Given the description of an element on the screen output the (x, y) to click on. 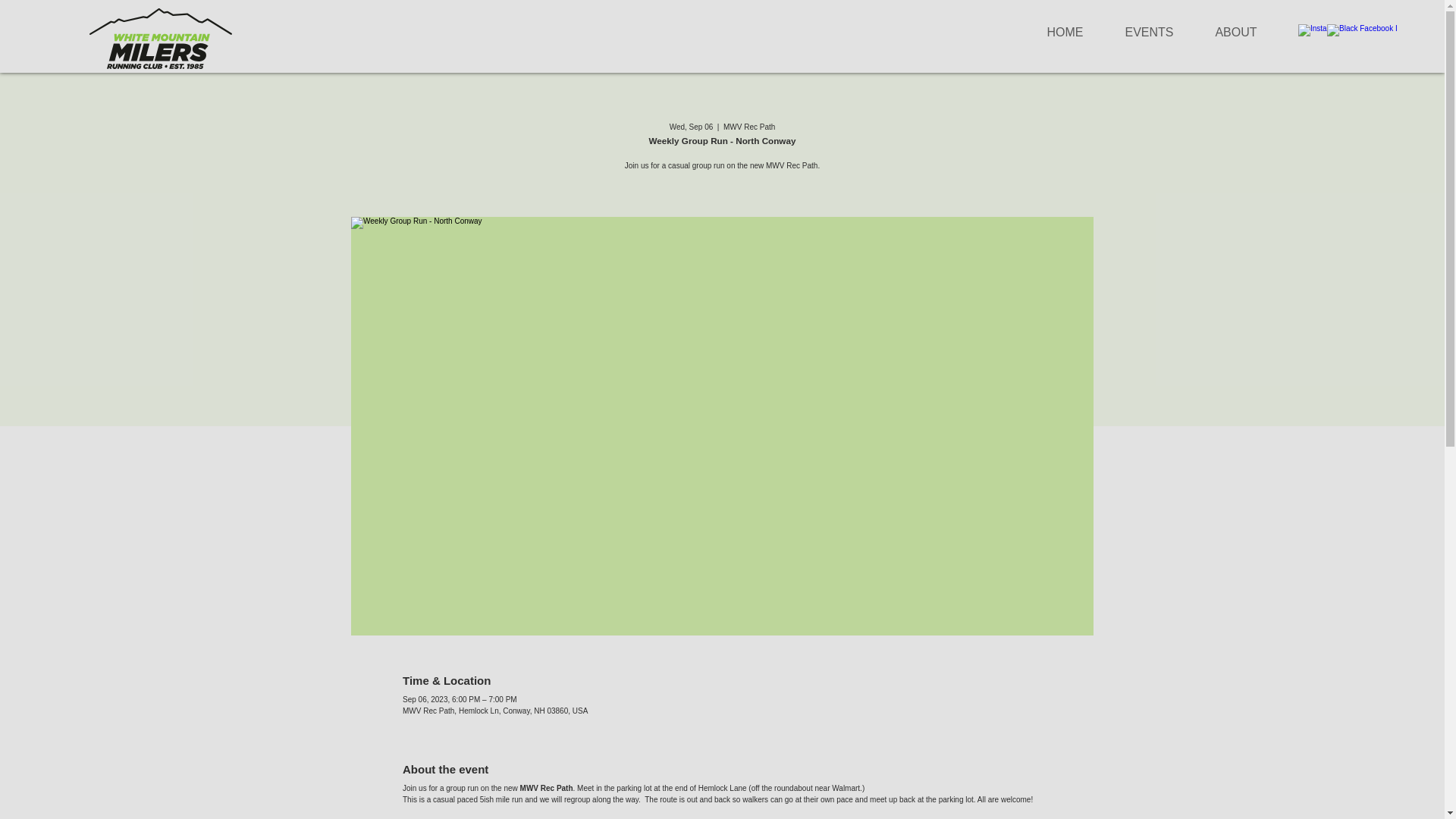
HOME (1064, 31)
ABOUT (1235, 31)
EVENTS (1148, 31)
